Given the description of an element on the screen output the (x, y) to click on. 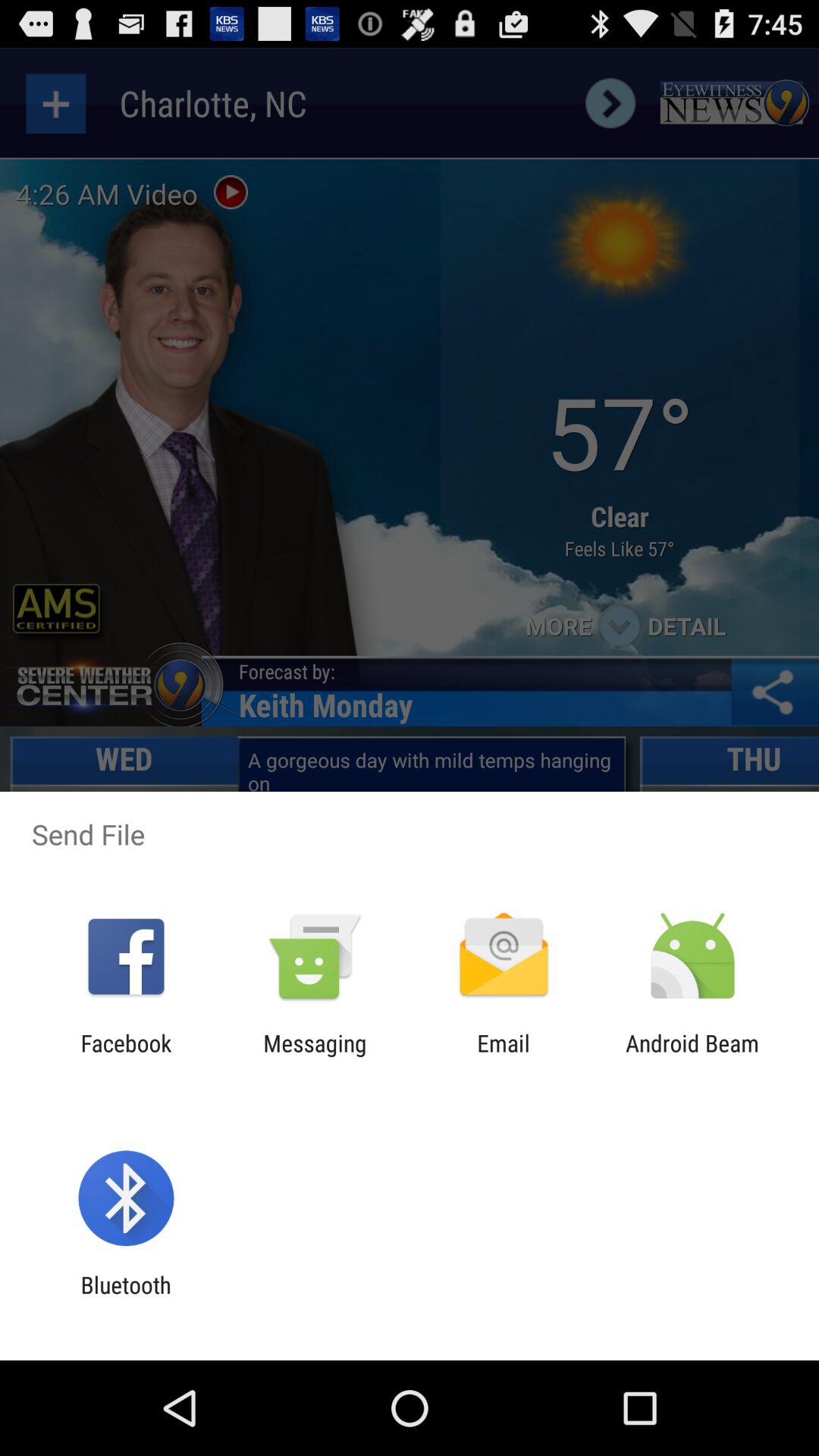
turn off app next to the messaging icon (125, 1056)
